Given the description of an element on the screen output the (x, y) to click on. 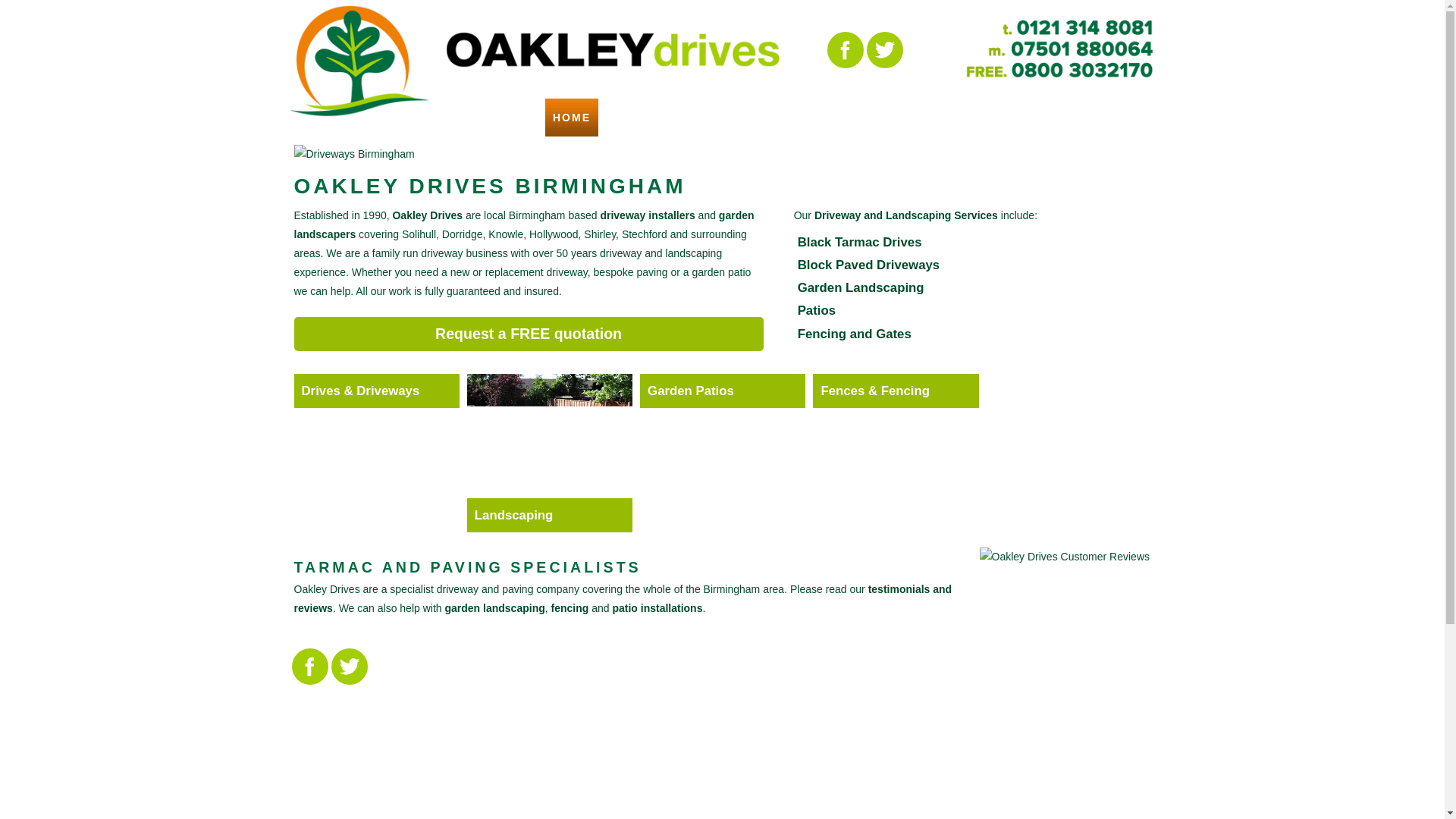
Landscaping (549, 514)
testimonials and reviews (623, 598)
SERVICES (813, 117)
DRIVEWAYS (727, 117)
Black Tarmac Drives (859, 242)
Oakley Drives (359, 58)
ABOUT US (639, 117)
Patios (816, 310)
driveway installers (646, 215)
Block Paved Driveways (868, 264)
Garden Patios (722, 390)
HOME (571, 117)
TESTIMONIALS (999, 117)
Fencing and Gates (854, 333)
Oakley Drives Birmingham (612, 33)
